Given the description of an element on the screen output the (x, y) to click on. 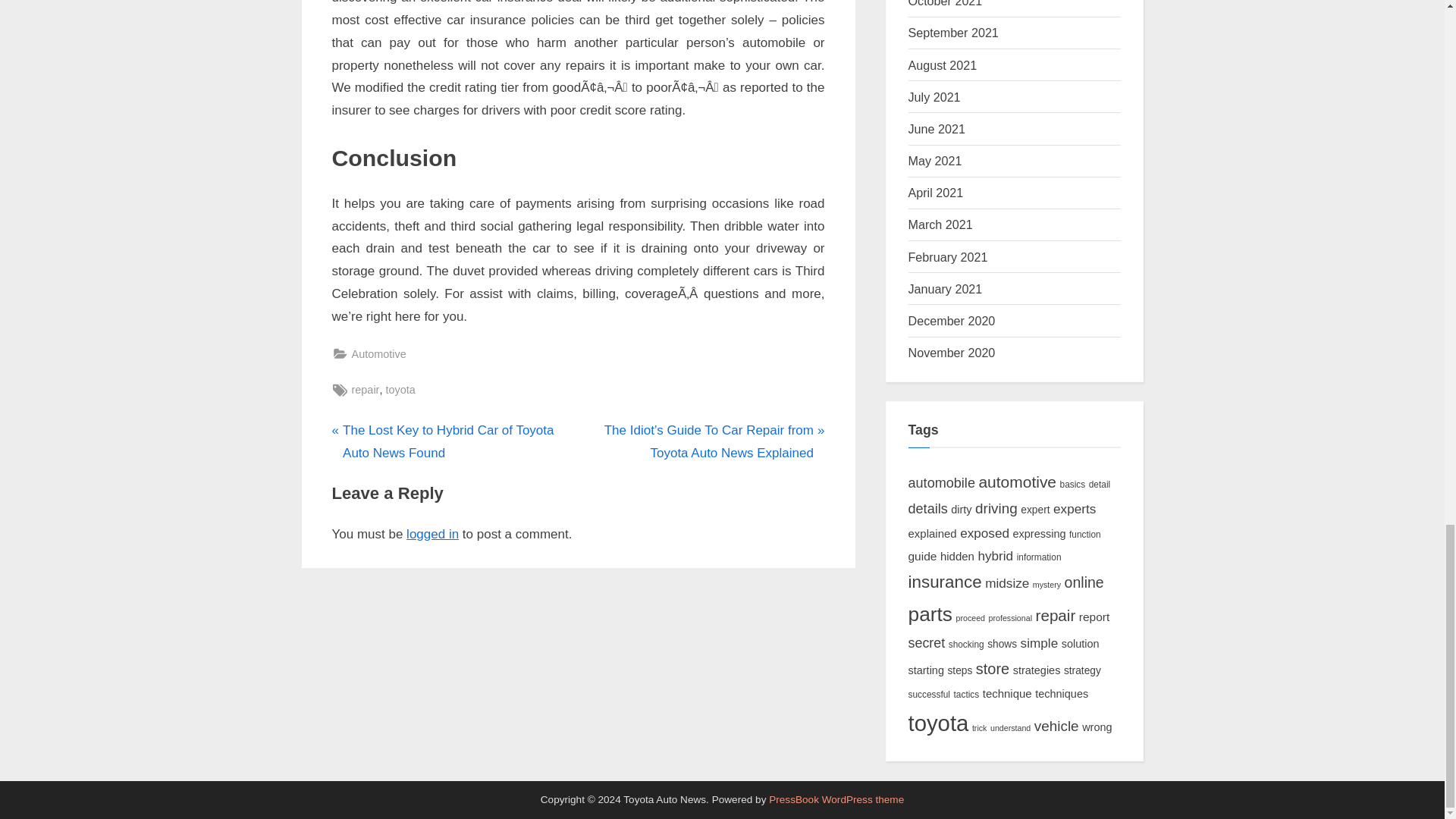
August 2021 (942, 65)
repair (366, 389)
September 2021 (953, 32)
October 2021 (945, 3)
logged in (432, 534)
Automotive (379, 353)
toyota (399, 389)
